Given the description of an element on the screen output the (x, y) to click on. 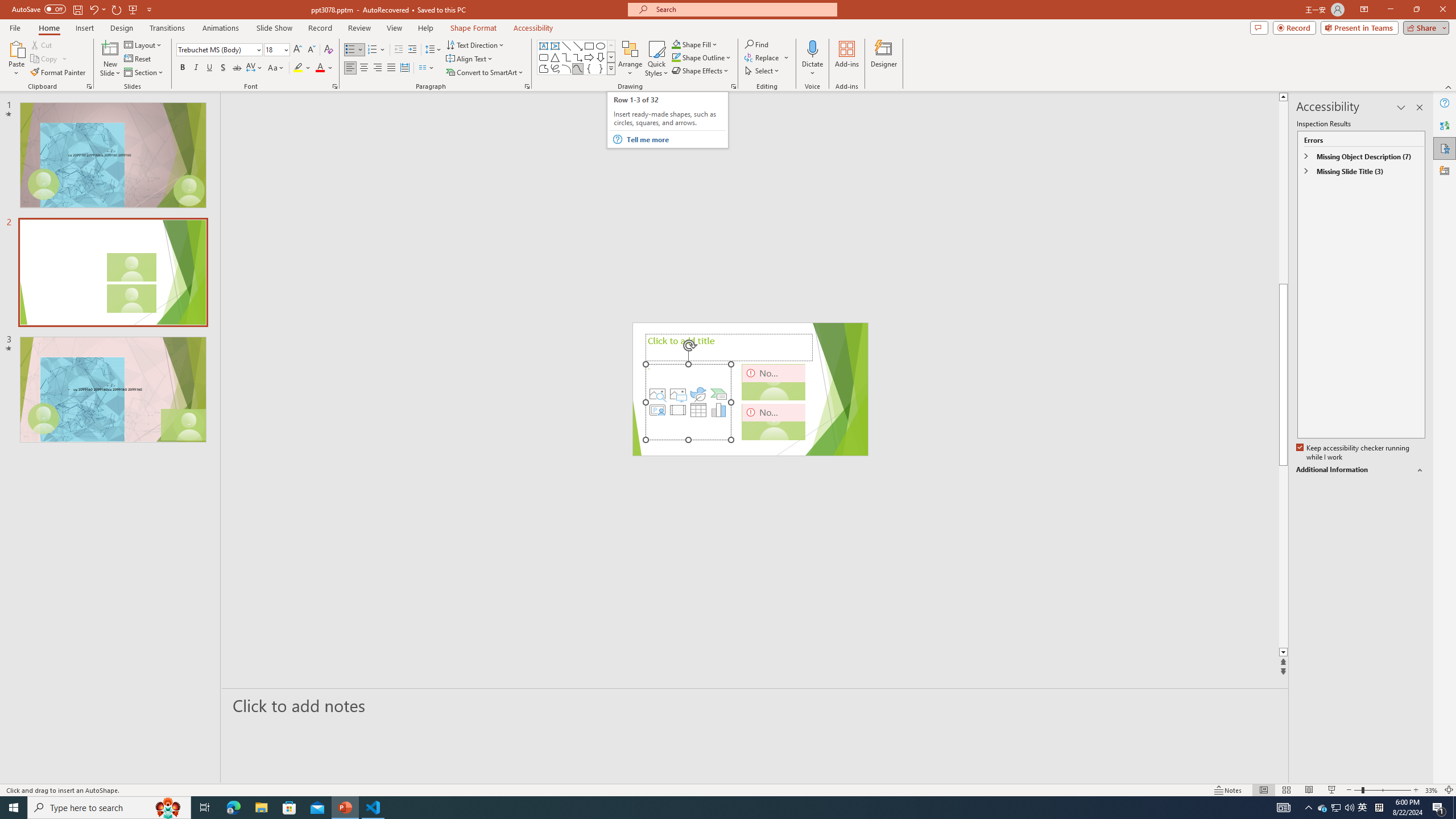
Insert Cameo (656, 409)
Insert an Icon (697, 394)
